Given the description of an element on the screen output the (x, y) to click on. 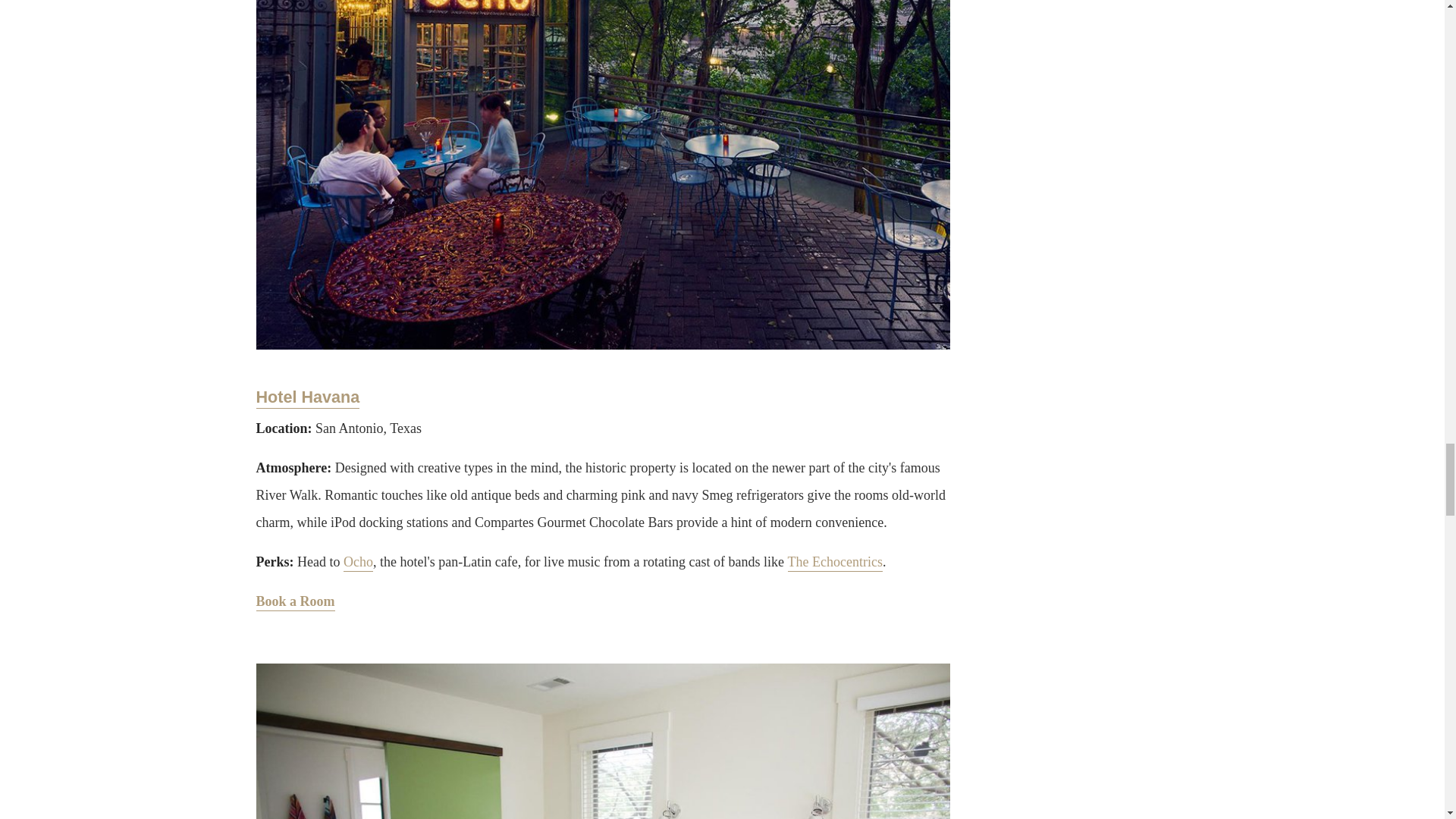
Book Hotel Havana (295, 601)
Ocho (357, 562)
Ocho (357, 562)
Book a Room (295, 601)
Hotel Havana (307, 397)
hotel Havana (307, 397)
The Echocentrics (834, 562)
The Echocentrics (834, 562)
